Given the description of an element on the screen output the (x, y) to click on. 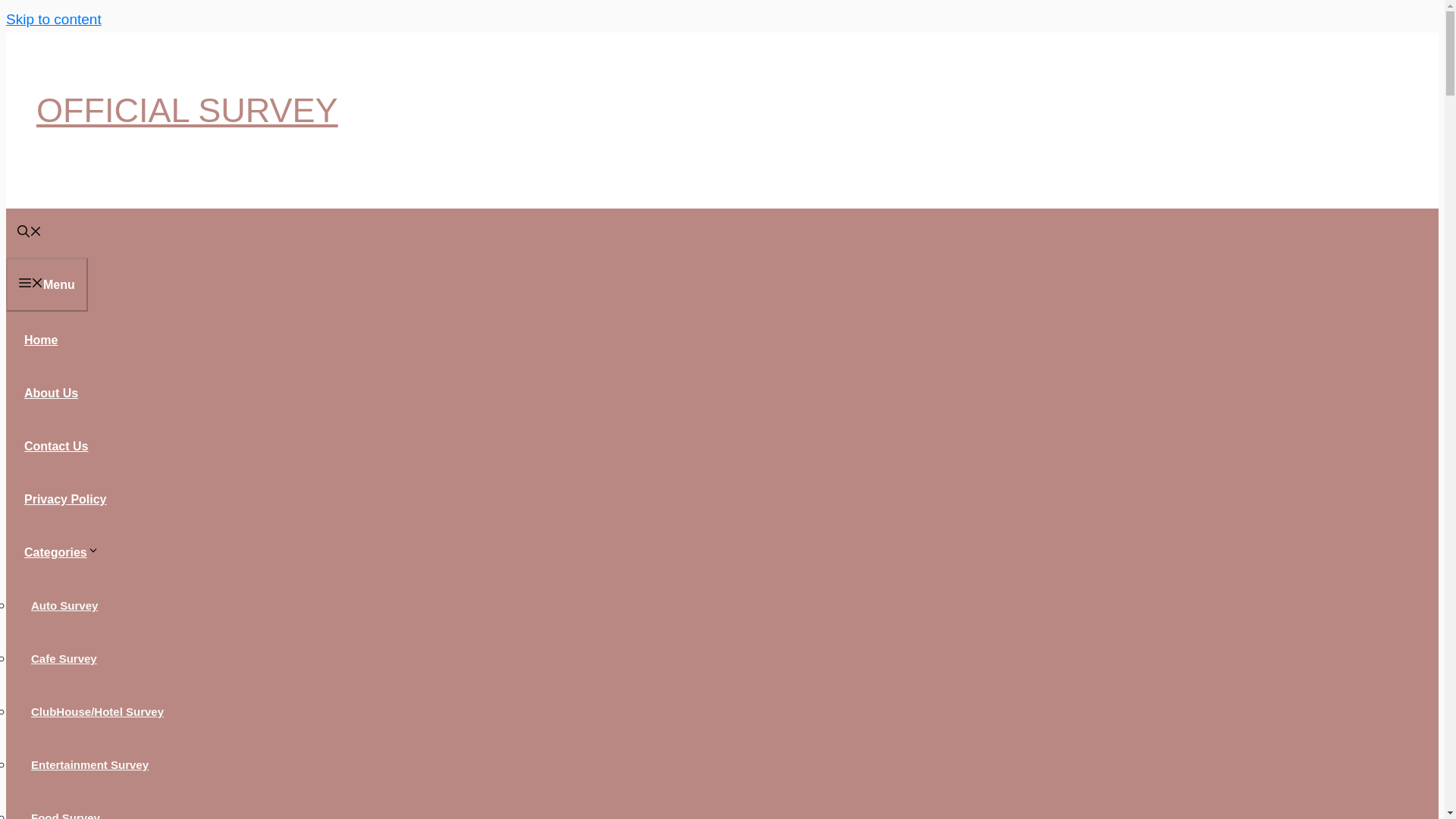
Privacy Policy (65, 499)
Home (40, 339)
Skip to content (53, 19)
Food Survey (66, 811)
OFFICIAL SURVEY (186, 109)
Menu (46, 284)
Skip to content (53, 19)
Entertainment Survey (90, 764)
Cafe Survey (63, 658)
Auto Survey (64, 605)
Contact Us (56, 445)
Categories (67, 552)
About Us (50, 392)
